Given the description of an element on the screen output the (x, y) to click on. 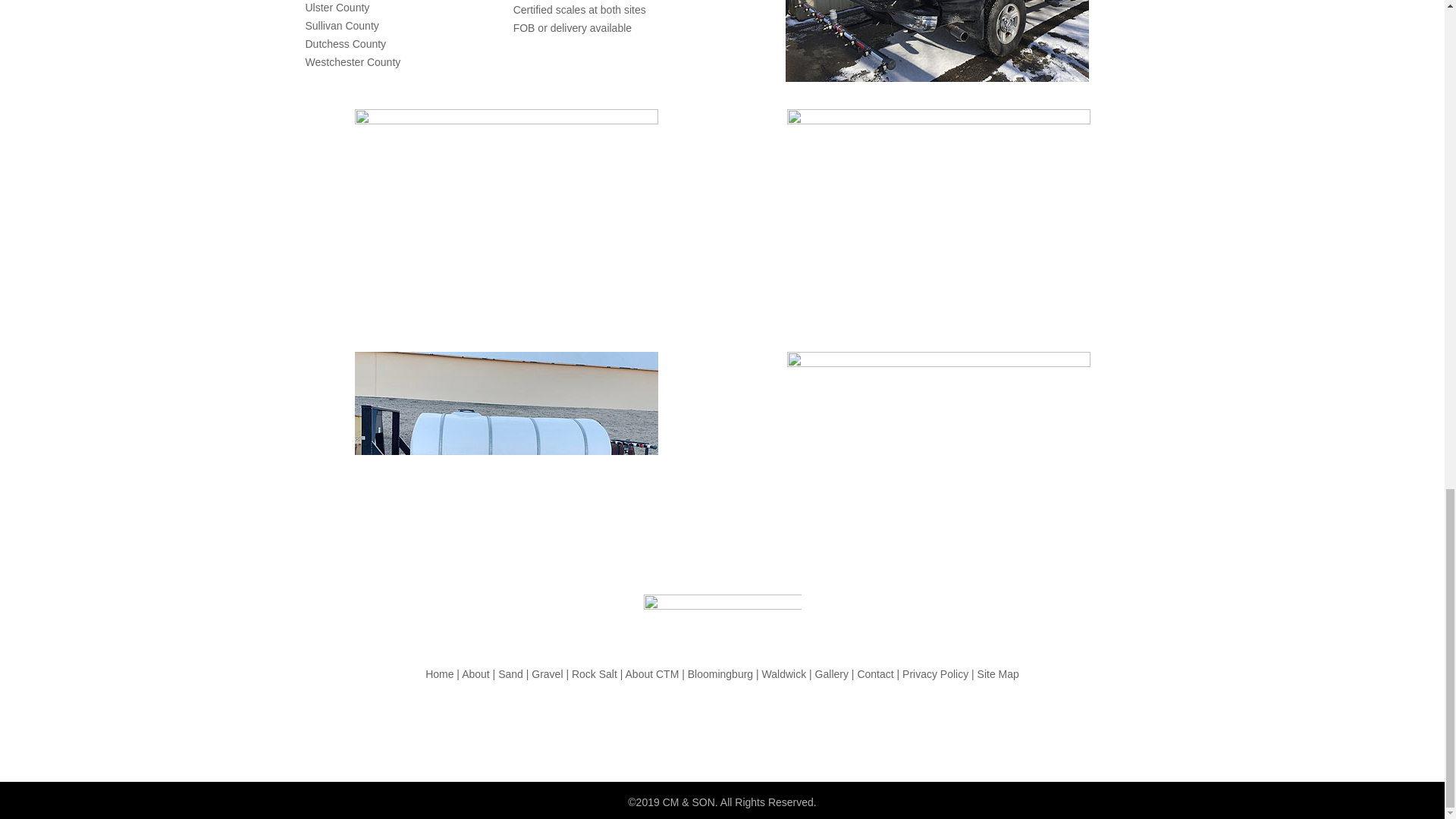
Waldwick (783, 674)
About (475, 674)
About CTM (652, 674)
Home (438, 674)
Bloomingburg (719, 674)
Gallery (831, 674)
Rock Salt (594, 674)
Gravel (546, 674)
Sand (509, 674)
